Given the description of an element on the screen output the (x, y) to click on. 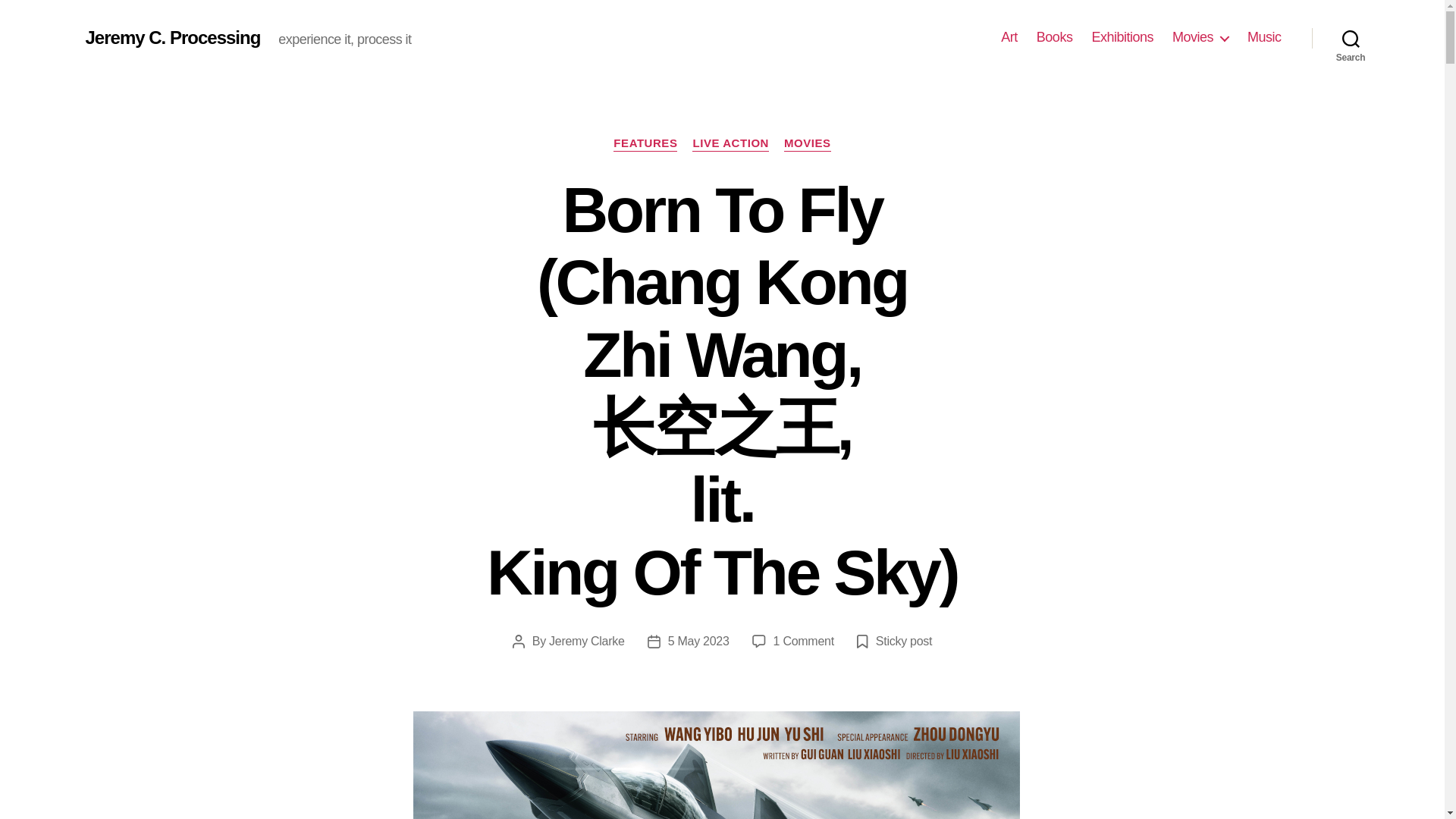
Books (1054, 37)
Search (1350, 37)
Art (1009, 37)
Music (1264, 37)
FEATURES (644, 143)
5 May 2023 (698, 640)
Jeremy C. Processing (172, 37)
MOVIES (807, 143)
LIVE ACTION (730, 143)
Jeremy Clarke (586, 640)
Exhibitions (1121, 37)
Movies (1200, 37)
